Given the description of an element on the screen output the (x, y) to click on. 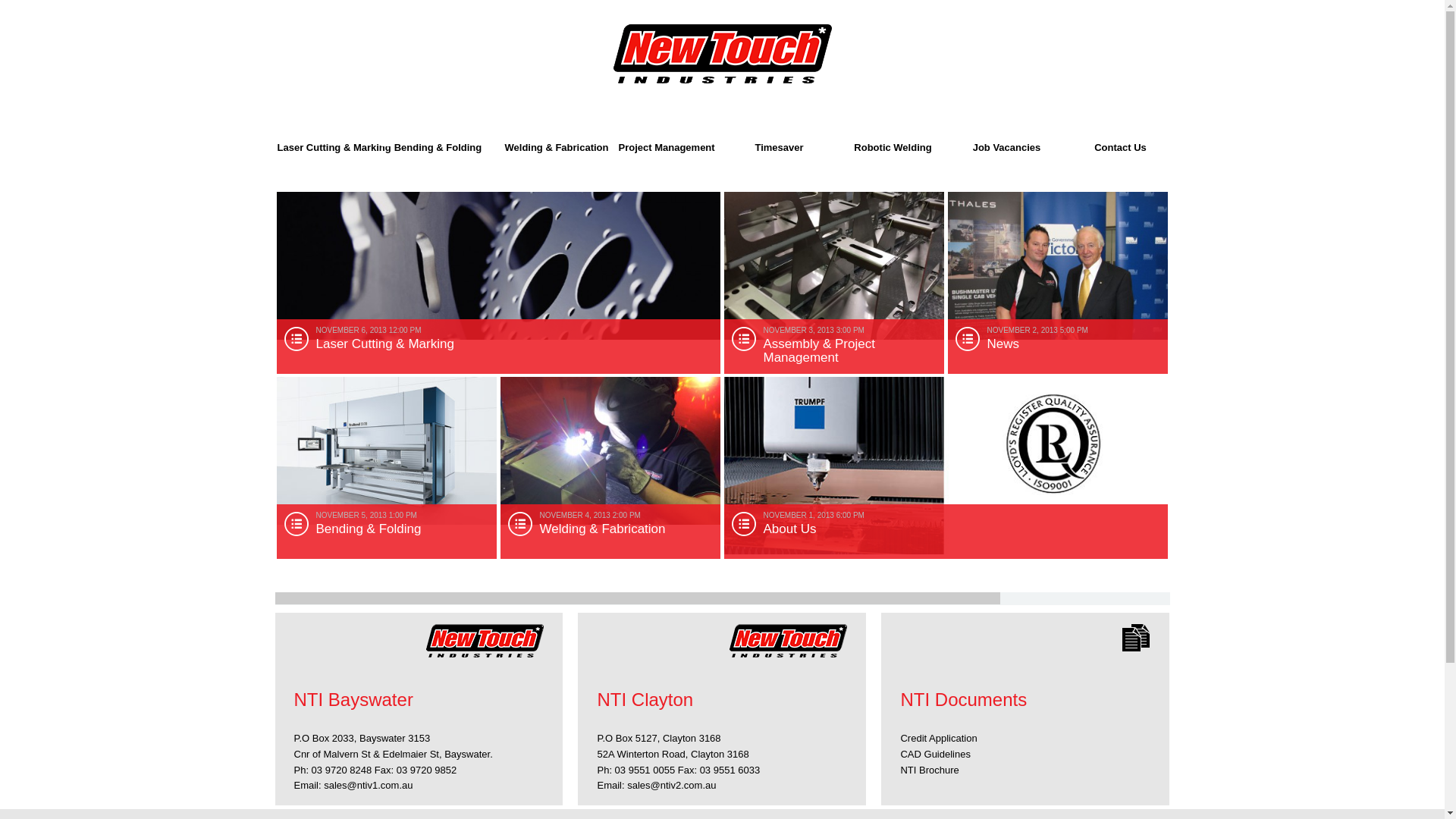
Robotic Welding Element type: text (892, 140)
sales@ntiv1.com.au Element type: text (367, 784)
Timesaver Element type: text (778, 140)
Assembly & Project Management Element type: hover (833, 265)
Bending & Folding Element type: hover (385, 450)
Laser Cutting & Marking Element type: text (323, 140)
News Element type: hover (1057, 265)
Welding & Fabrication Element type: text (551, 140)
sales@ntiv2.com.au Element type: text (671, 784)
Contact Us Element type: text (1119, 140)
Laser Cutting & Marking Element type: hover (497, 265)
CAD Guidelines Element type: text (935, 753)
Project Management Element type: text (664, 140)
Credit Application Element type: text (938, 737)
Job Vacancies Element type: text (1006, 140)
Bending & Folding Element type: text (437, 140)
Welding & Fabrication Element type: hover (610, 450)
NTI Brochure Element type: text (929, 769)
About Us Element type: hover (945, 465)
